Given the description of an element on the screen output the (x, y) to click on. 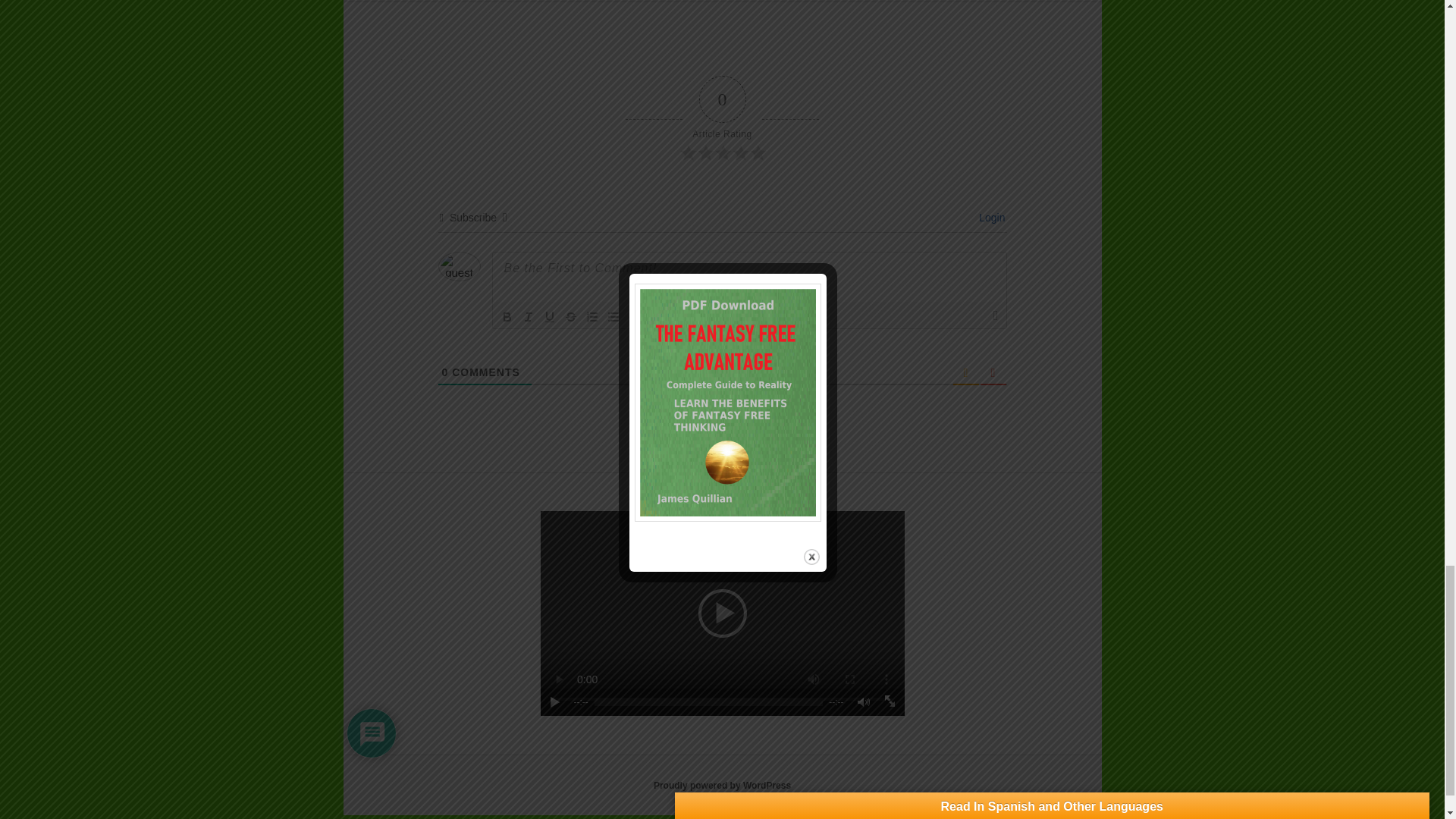
Strike (569, 316)
bullet (612, 316)
Login (989, 217)
Blockquote (634, 316)
Unordered List (612, 316)
Bold (506, 316)
Code Block (655, 316)
Ordered List (591, 316)
ordered (591, 316)
Italic (527, 316)
Underline (548, 316)
